Given the description of an element on the screen output the (x, y) to click on. 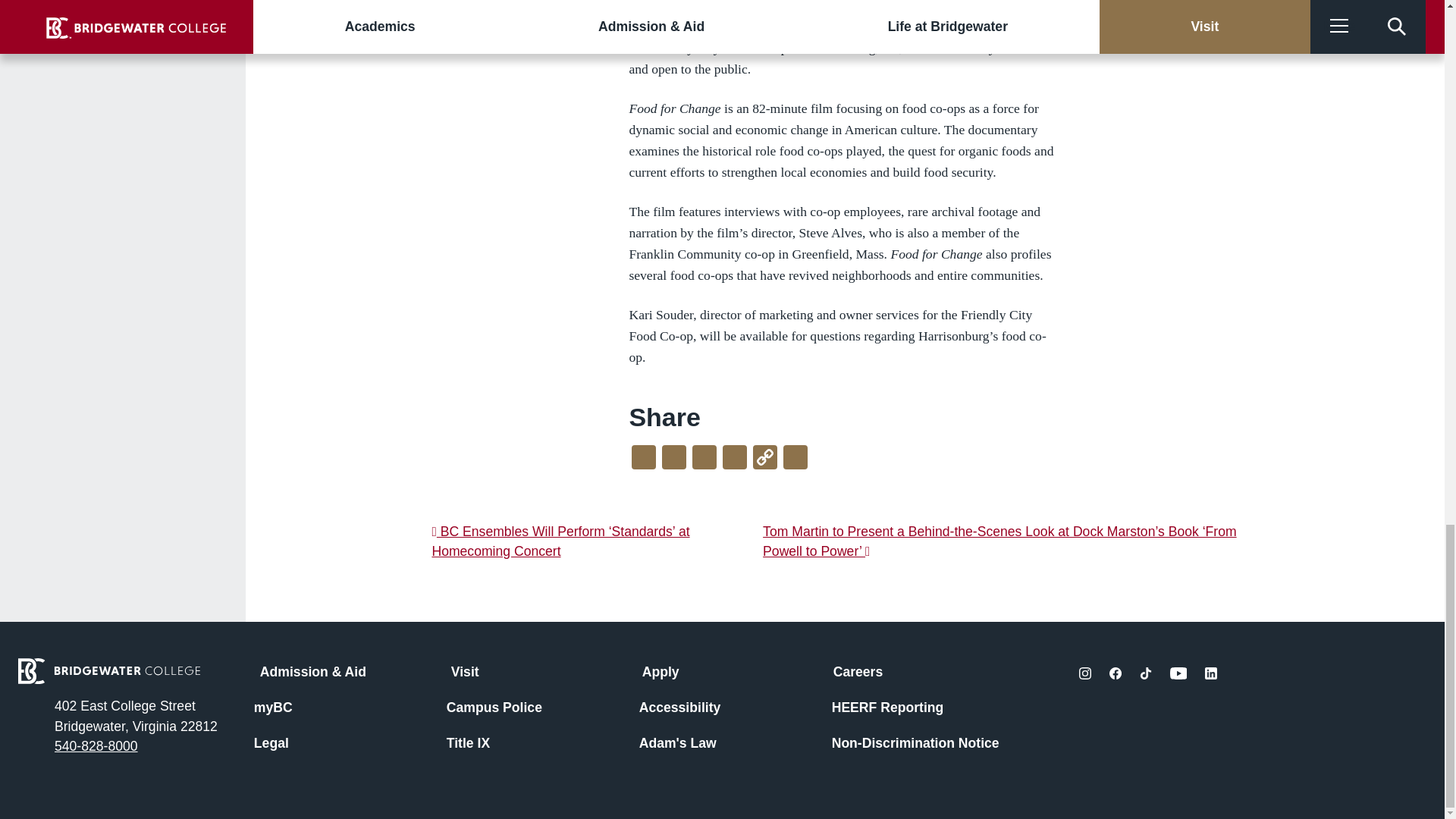
LinkedIn (703, 459)
Copy Link (764, 459)
social-facebook (1115, 673)
Messenger (734, 459)
social-instagram-fill (1084, 673)
Facebook (643, 459)
Twitter (673, 459)
Email (795, 459)
social-youtube (1178, 673)
